Given the description of an element on the screen output the (x, y) to click on. 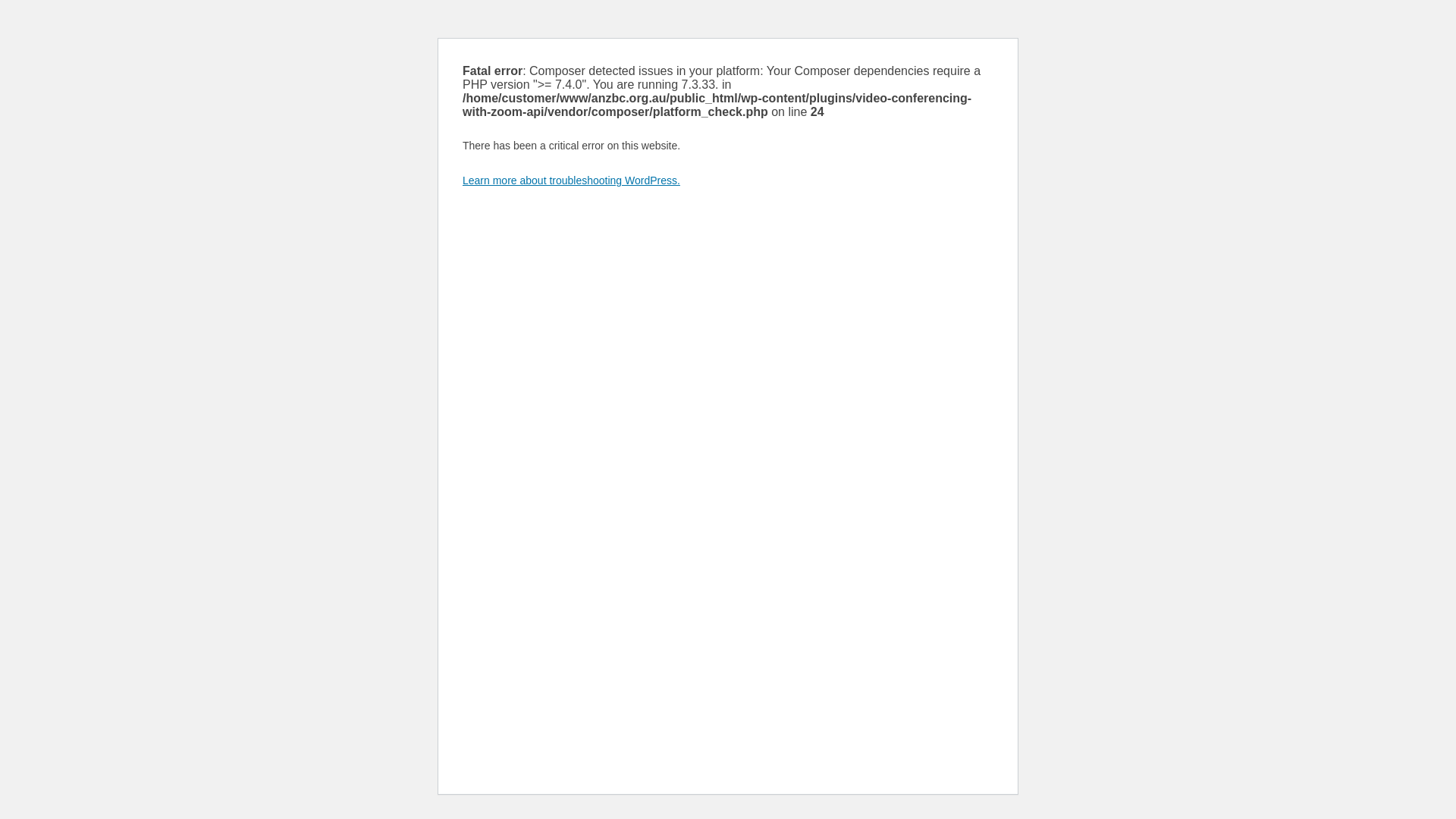
Learn more about troubleshooting WordPress. Element type: text (571, 180)
